Given the description of an element on the screen output the (x, y) to click on. 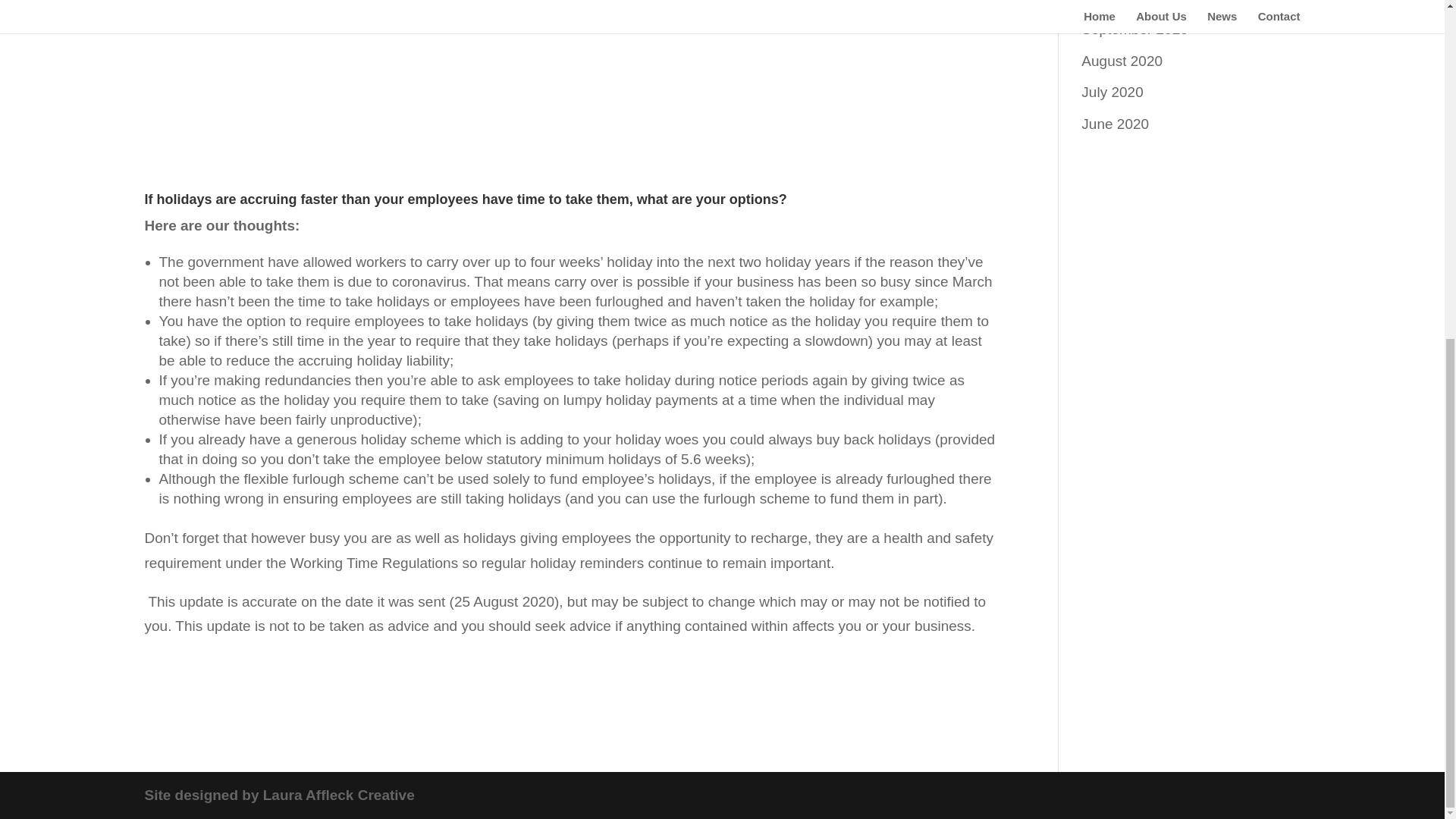
October 2020 (1125, 2)
July 2020 (1111, 91)
September 2020 (1134, 28)
June 2020 (1114, 123)
Site designed by Laura Affleck Creative (278, 795)
August 2020 (1121, 60)
